Given the description of an element on the screen output the (x, y) to click on. 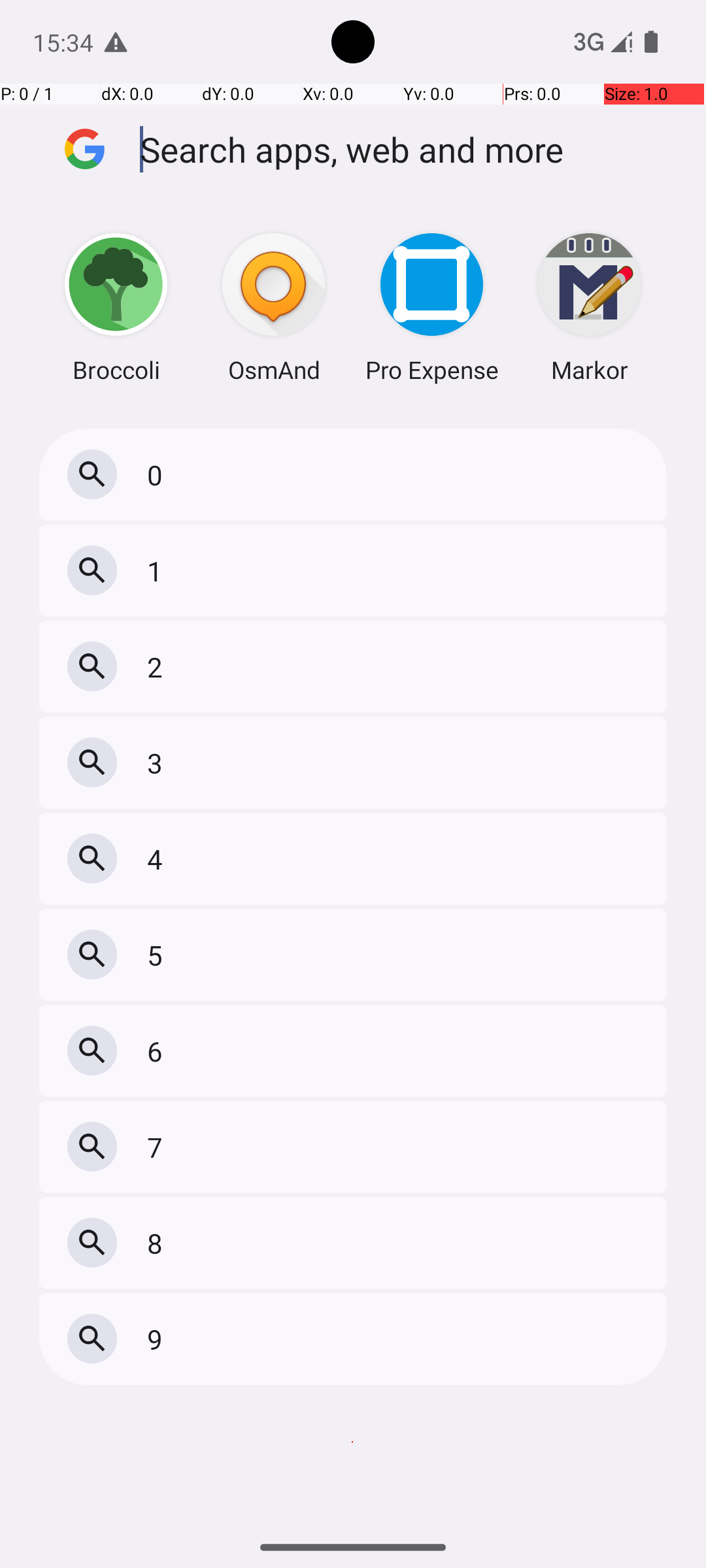
Google app Element type: android.widget.ImageView (84, 148)
Search apps, web and more Element type: android.widget.EditText (403, 148)
Broccoli Element type: android.widget.TextView (115, 306)
OsmAnd Element type: android.widget.TextView (273, 306)
Pro Expense Element type: android.widget.TextView (431, 306)
Markor Element type: android.widget.TextView (589, 306)
0 Element type: android.widget.TextView (158, 474)
1 Element type: android.widget.TextView (158, 570)
2 Element type: android.widget.TextView (158, 666)
3 Element type: android.widget.TextView (158, 762)
4 Element type: android.widget.TextView (158, 858)
5 Element type: android.widget.TextView (158, 954)
6 Element type: android.widget.TextView (158, 1050)
7 Element type: android.widget.TextView (158, 1146)
8 Element type: android.widget.TextView (158, 1242)
9 Element type: android.widget.TextView (158, 1338)
